Given the description of an element on the screen output the (x, y) to click on. 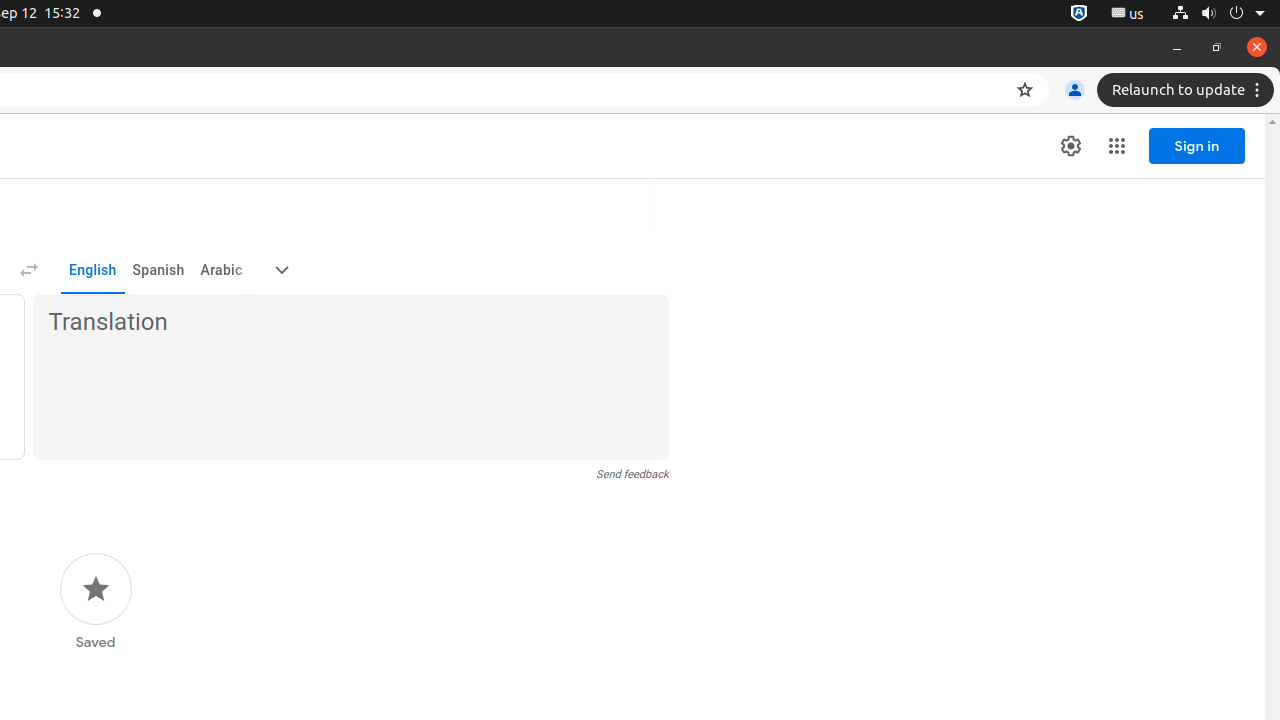
Bookmark this tab Element type: push-button (1025, 90)
Swap languages (Ctrl+Shift+S) Element type: push-button (28, 270)
Settings Element type: push-button (1071, 146)
:1.21/StatusNotifierItem Element type: menu (1127, 13)
Arabic Element type: page-tab (221, 270)
